Given the description of an element on the screen output the (x, y) to click on. 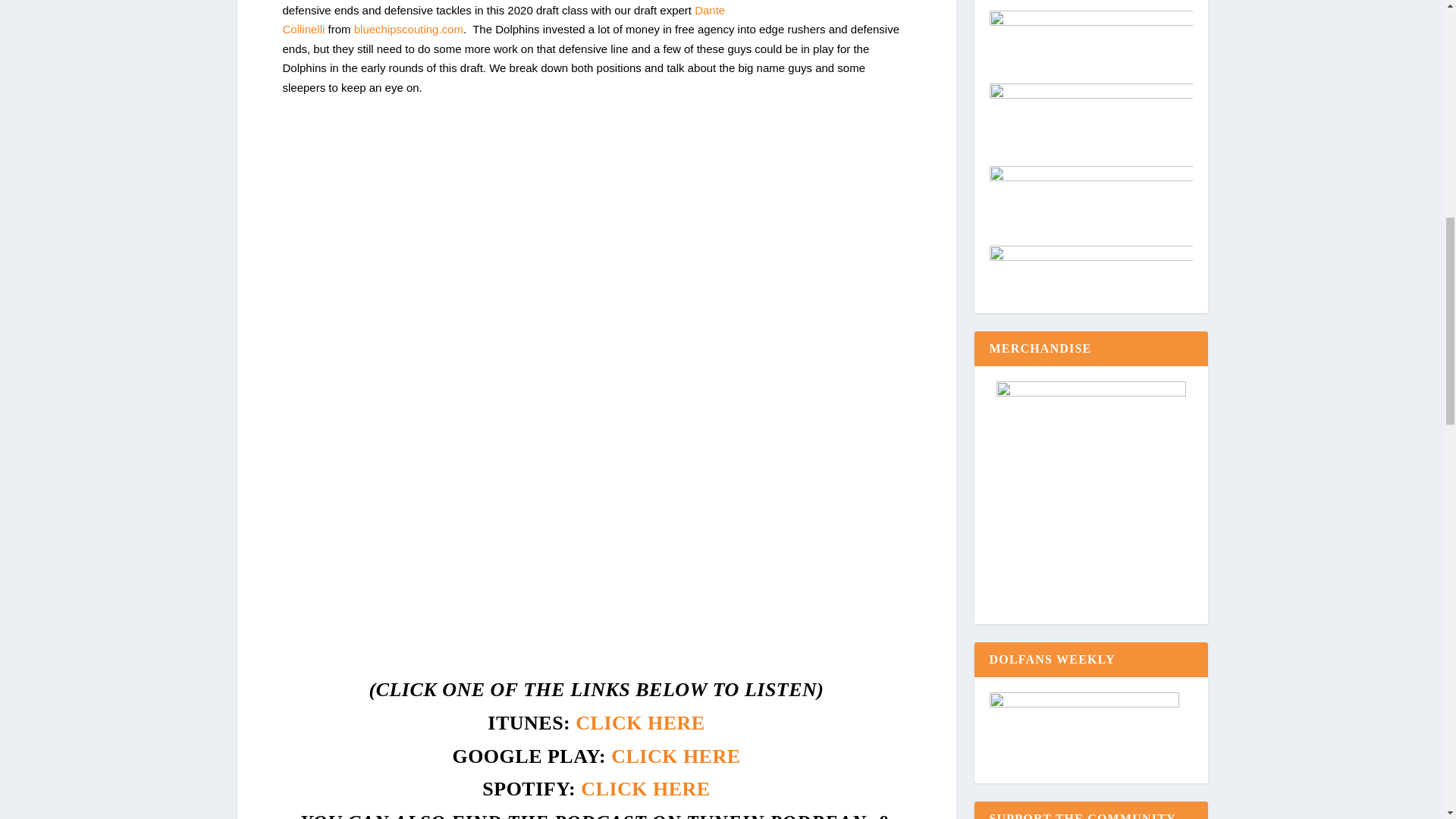
CLICK HERE (675, 756)
Dante Collinelli (503, 20)
CLICK HERE (645, 789)
bluechipscouting.com (408, 29)
CLICK HERE (639, 722)
